Given the description of an element on the screen output the (x, y) to click on. 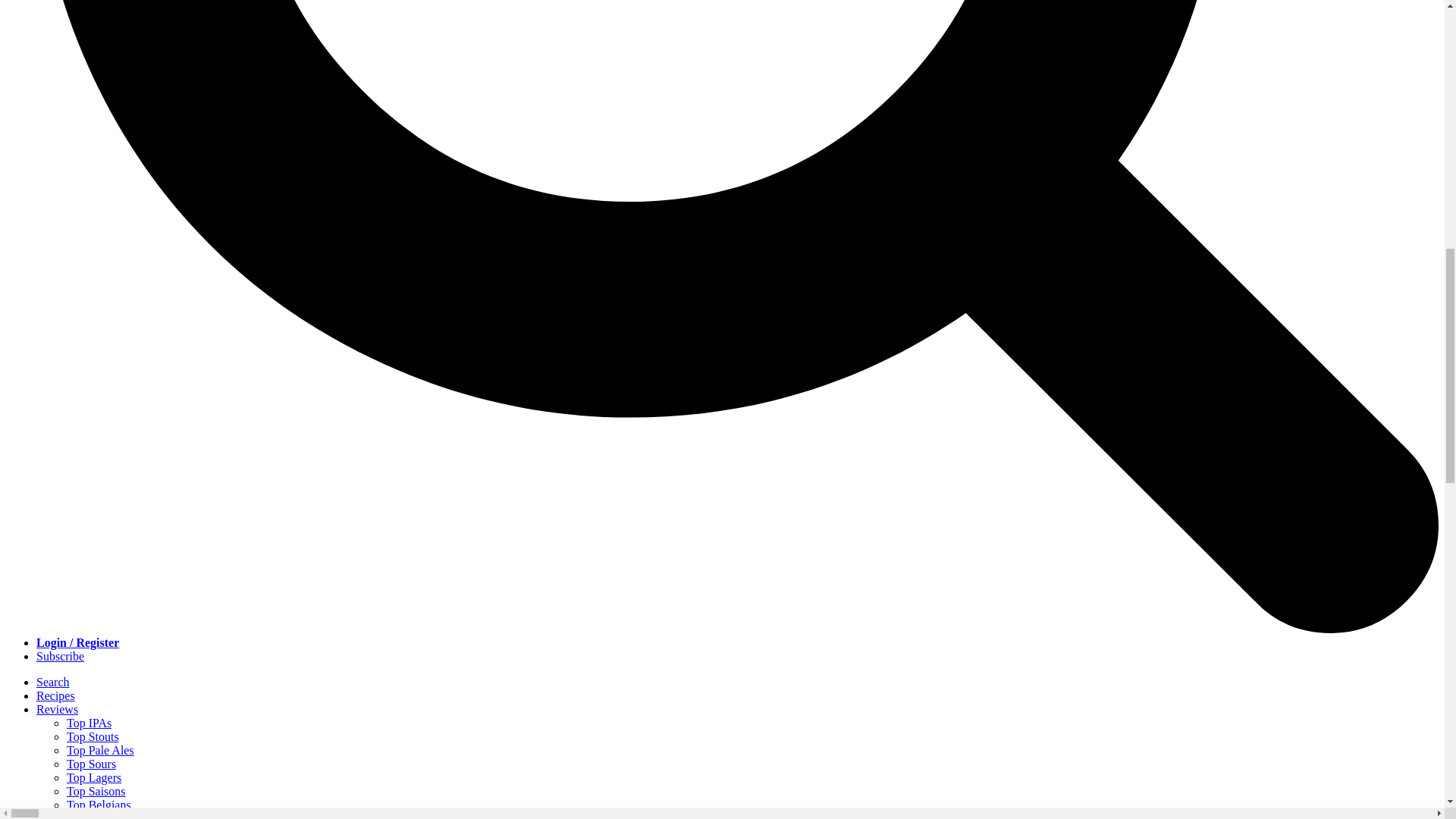
Top Saisons (95, 790)
Search (52, 681)
Recipes (55, 695)
Top Belgians (98, 804)
Top IPAs (89, 722)
Top Sours (91, 763)
Subscribe (60, 656)
Top Stouts (92, 736)
Search All Reviews (113, 815)
Top Lagers (93, 777)
Reviews (57, 708)
Top Pale Ales (99, 749)
